Given the description of an element on the screen output the (x, y) to click on. 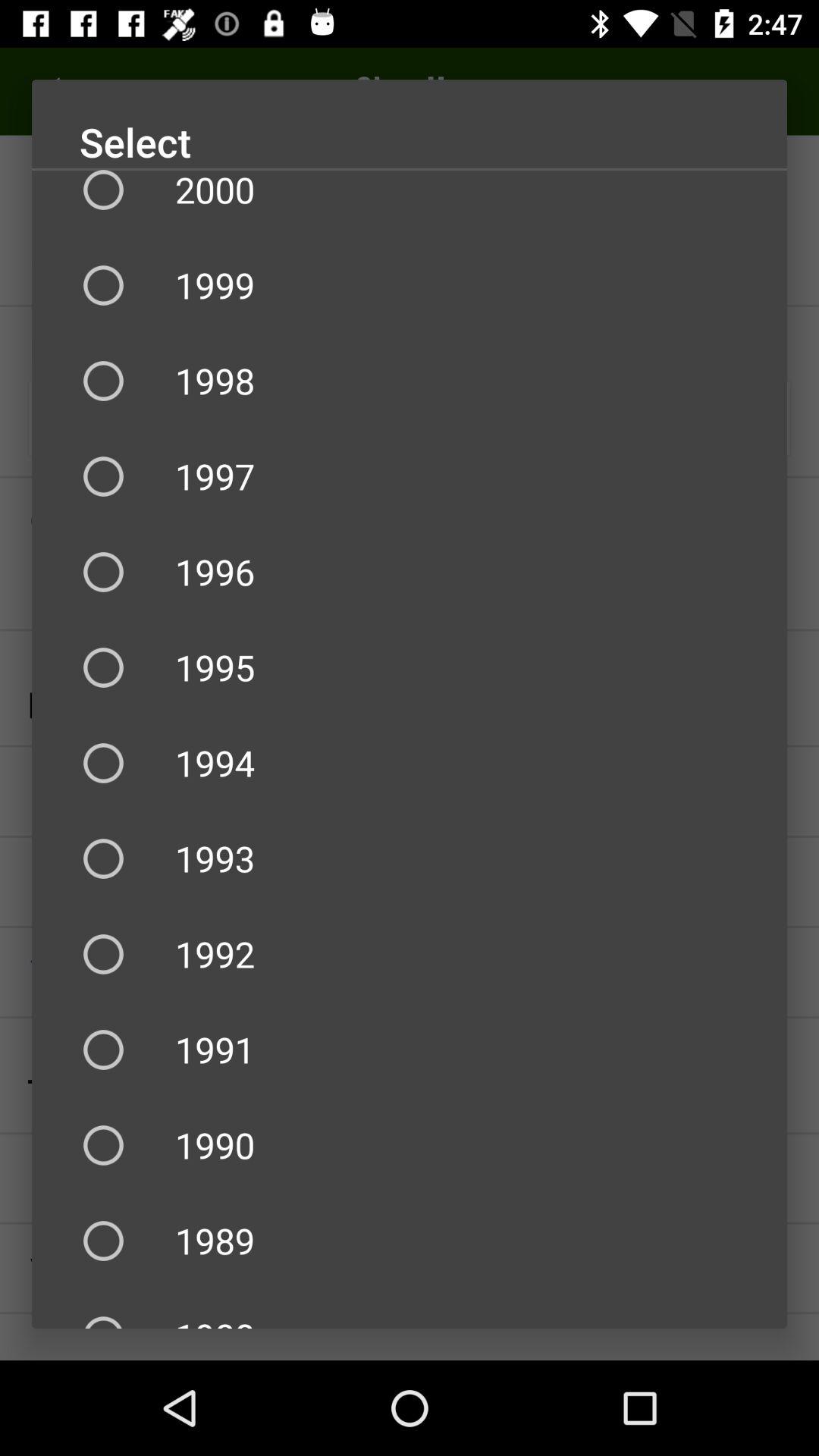
turn off the icon above the 1993 (409, 763)
